Given the description of an element on the screen output the (x, y) to click on. 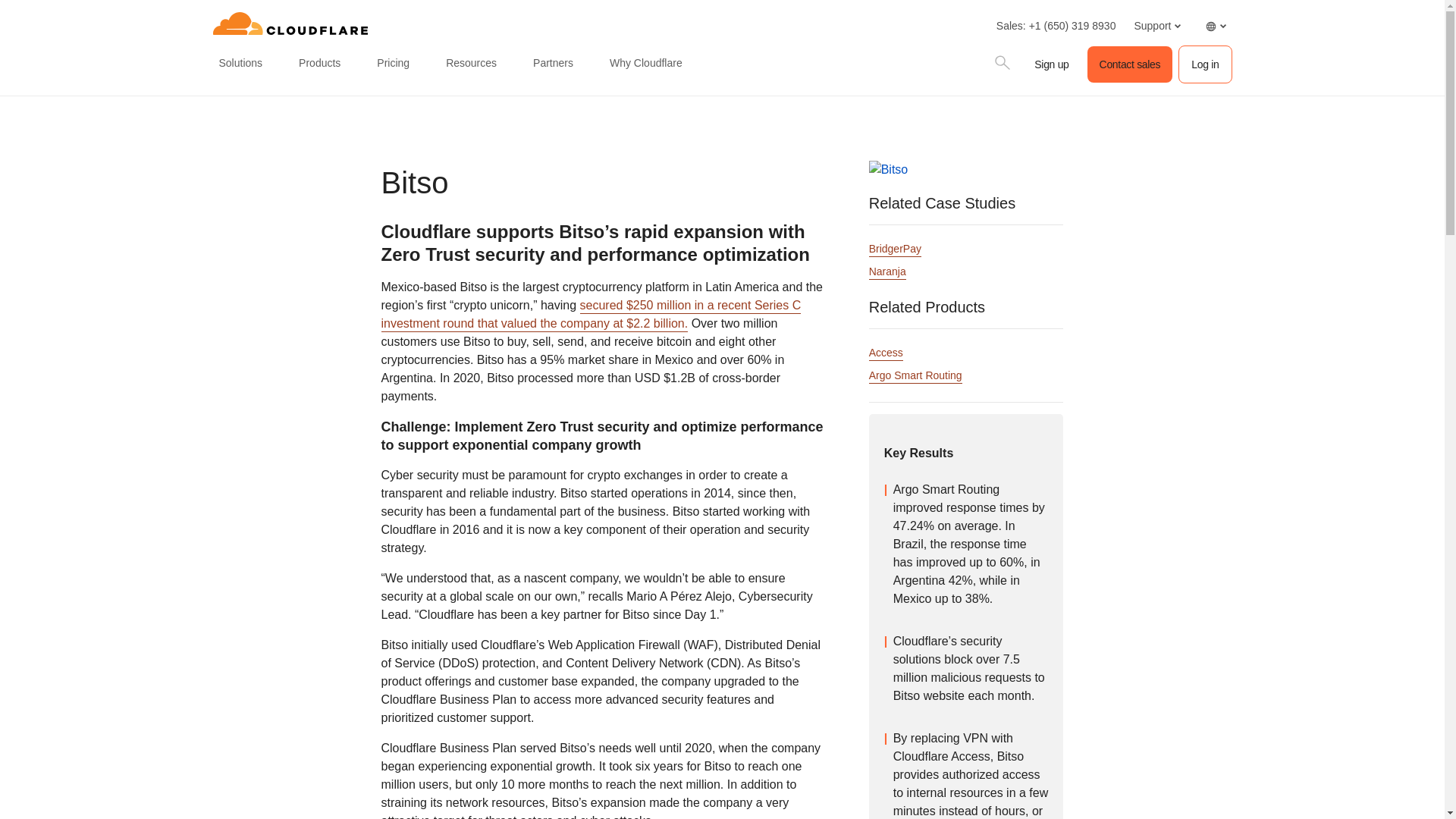
Pricing (392, 63)
Naranja (887, 272)
Resources (470, 63)
Log in (1204, 64)
Support (1156, 26)
BridgerPay (895, 249)
Products (319, 63)
Partners (553, 63)
Contact sales (1130, 63)
Sign up (1051, 63)
